Given the description of an element on the screen output the (x, y) to click on. 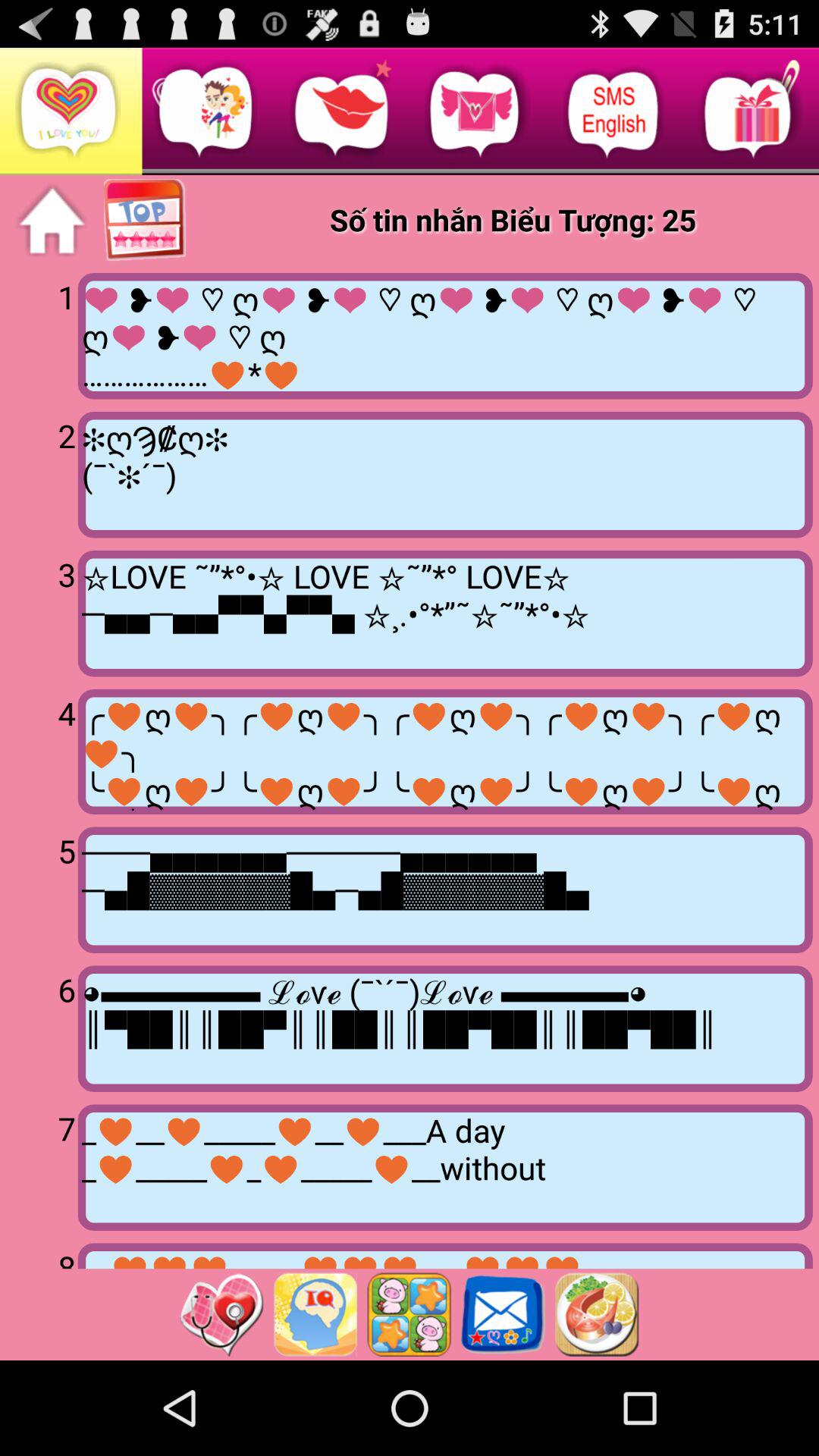
choose item to the right of 6 item (444, 1028)
